Given the description of an element on the screen output the (x, y) to click on. 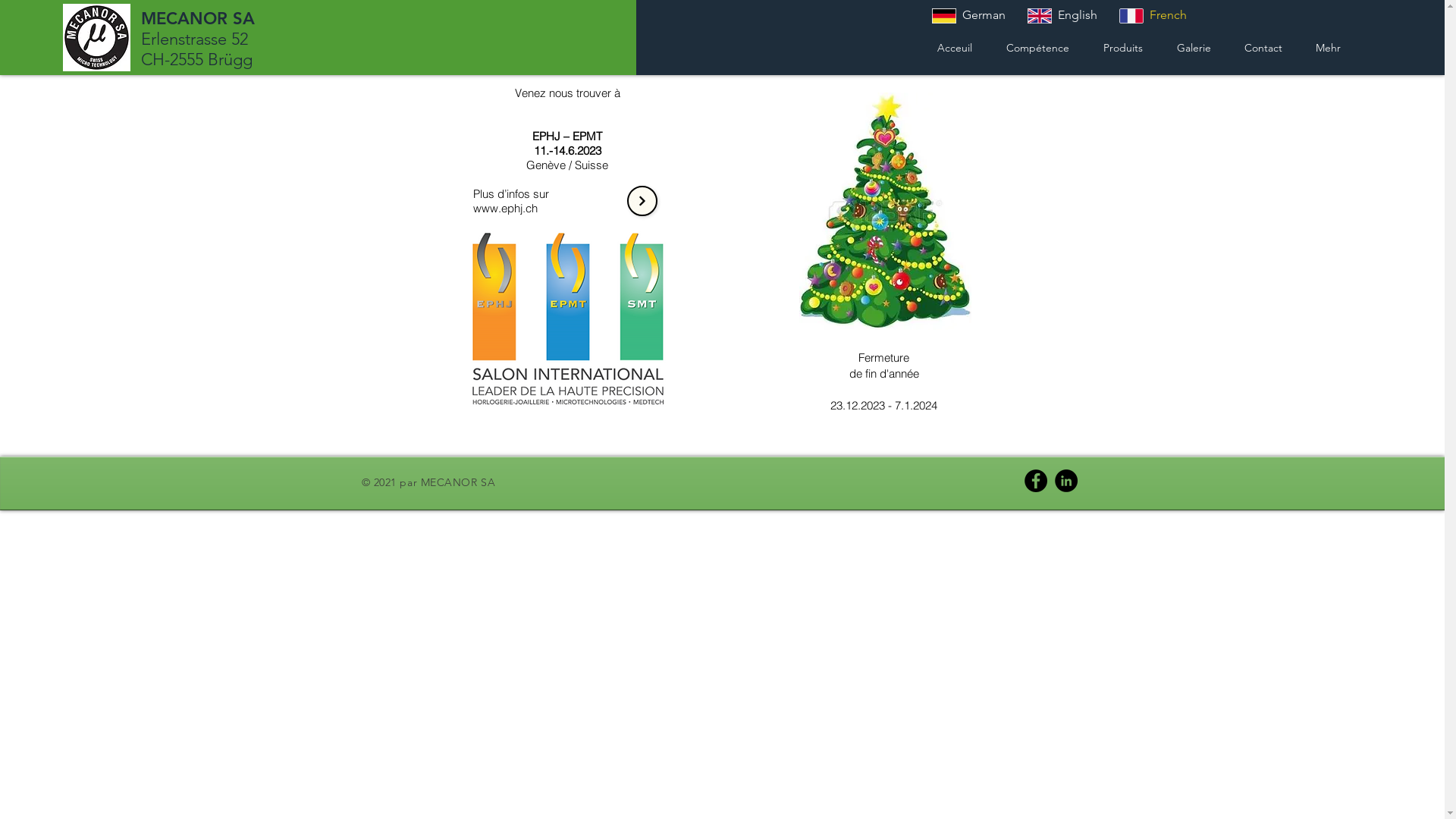
www.ephj.ch Element type: text (505, 207)
Produits Element type: text (1122, 47)
Galerie Element type: text (1193, 47)
French Element type: text (1152, 15)
MECANOR SA Element type: text (197, 18)
Acceuil Element type: text (953, 47)
Bild1.jpg Element type: hover (885, 210)
German Element type: text (968, 15)
English Element type: text (1061, 15)
Contact Element type: text (1263, 47)
Erlenstrasse 52 Element type: text (194, 38)
